Given the description of an element on the screen output the (x, y) to click on. 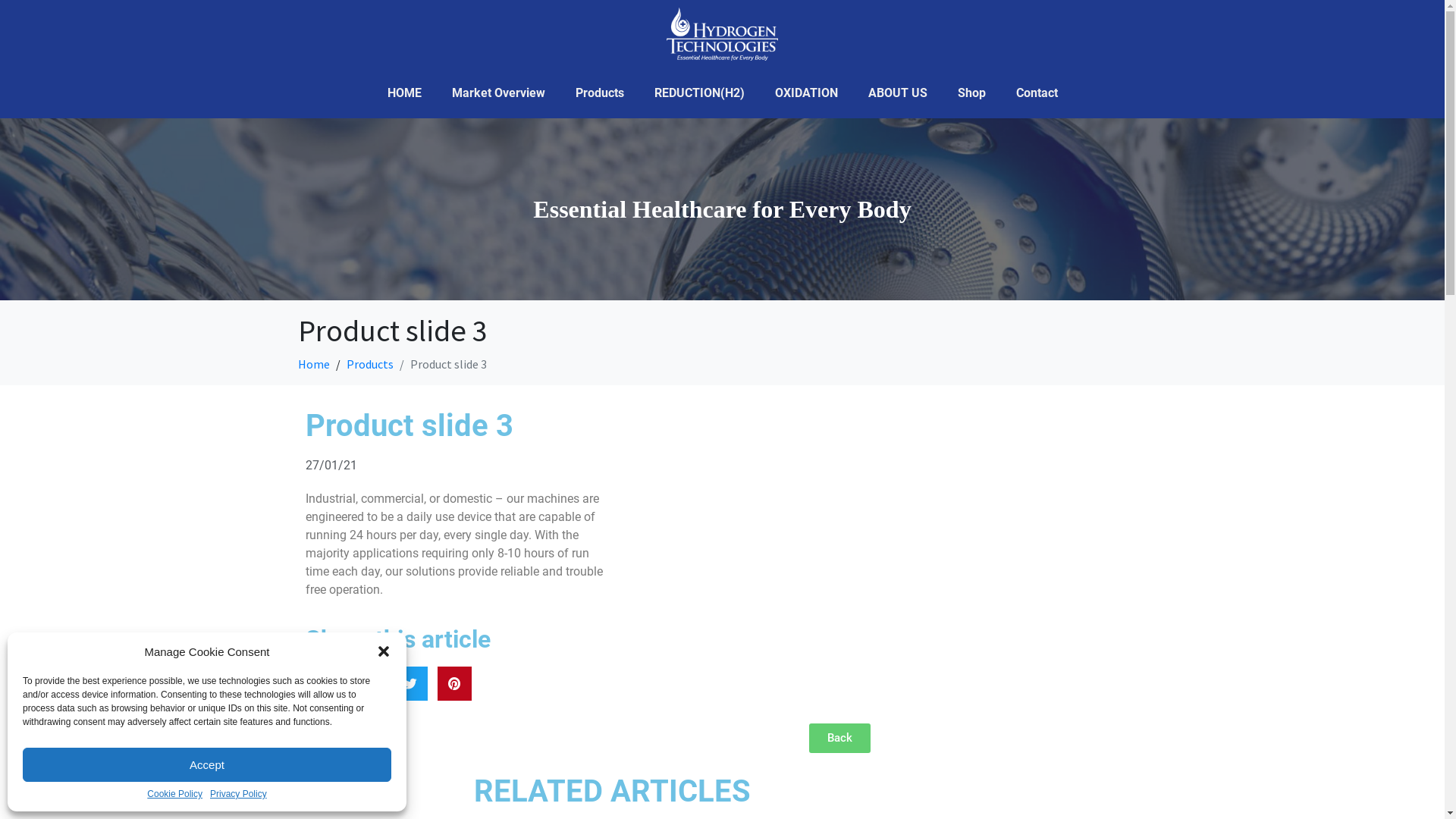
Market Overview Element type: text (498, 92)
OXIDATION Element type: text (806, 92)
ABOUT US Element type: text (896, 92)
Shop Element type: text (970, 92)
REDUCTION(H2) Element type: text (698, 92)
Home Element type: text (313, 363)
Products Element type: text (598, 92)
Products Element type: text (368, 363)
Back Element type: text (838, 738)
Contact Element type: text (1037, 92)
HOME Element type: text (403, 92)
Accept Element type: text (206, 764)
Privacy Policy Element type: text (238, 794)
Cookie Policy Element type: text (174, 794)
